Given the description of an element on the screen output the (x, y) to click on. 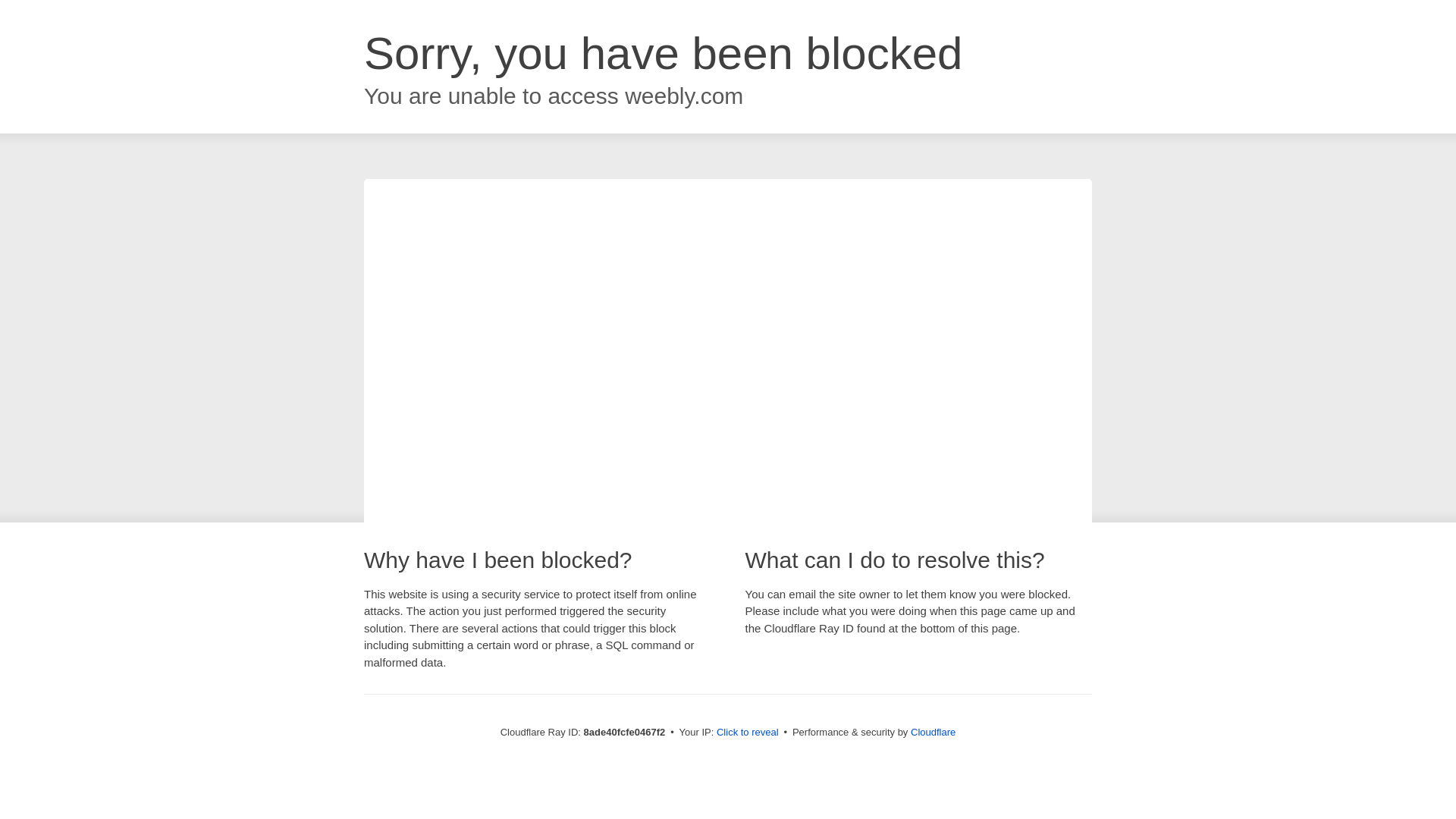
Click to reveal (747, 732)
Cloudflare (933, 731)
